Given the description of an element on the screen output the (x, y) to click on. 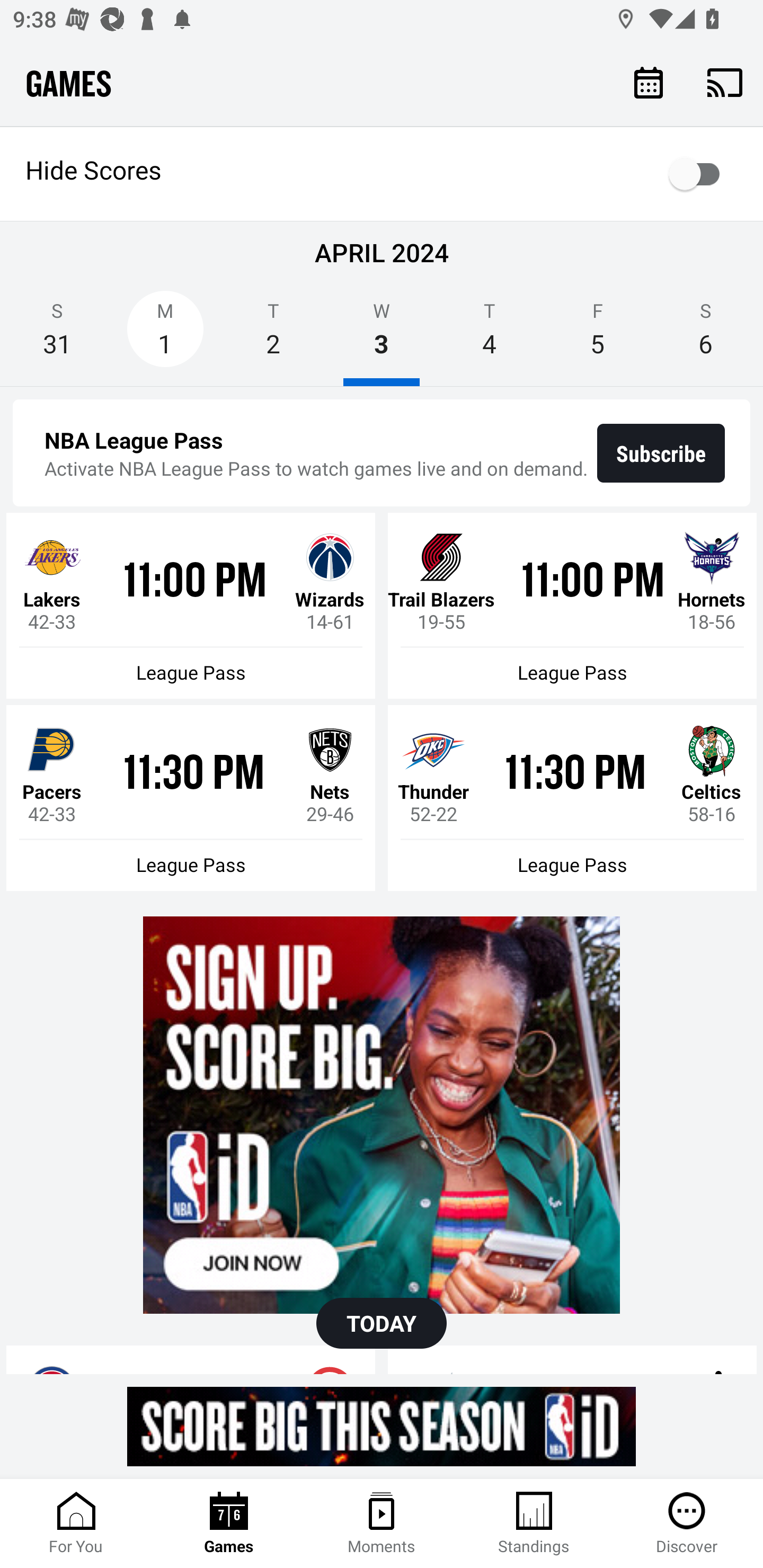
Cast. Disconnected (724, 82)
Calendar (648, 81)
Hide Scores (381, 174)
S 31 (57, 334)
M 1 (165, 334)
T 2 (273, 334)
W 3 (381, 334)
T 4 (489, 334)
F 5 (597, 334)
S 6 (705, 334)
Subscribe (660, 452)
Lakers 42-33 11:00 PM Wizards 14-61 League Pass (190, 605)
Pacers 42-33 11:30 PM Nets 29-46 League Pass (190, 797)
Thunder 52-22 11:30 PM Celtics 58-16 League Pass (571, 797)
g5nqqygr7owph (381, 1114)
TODAY (381, 1323)
g5nqqygr7owph (381, 1426)
For You (76, 1523)
Moments (381, 1523)
Standings (533, 1523)
Discover (686, 1523)
